Given the description of an element on the screen output the (x, y) to click on. 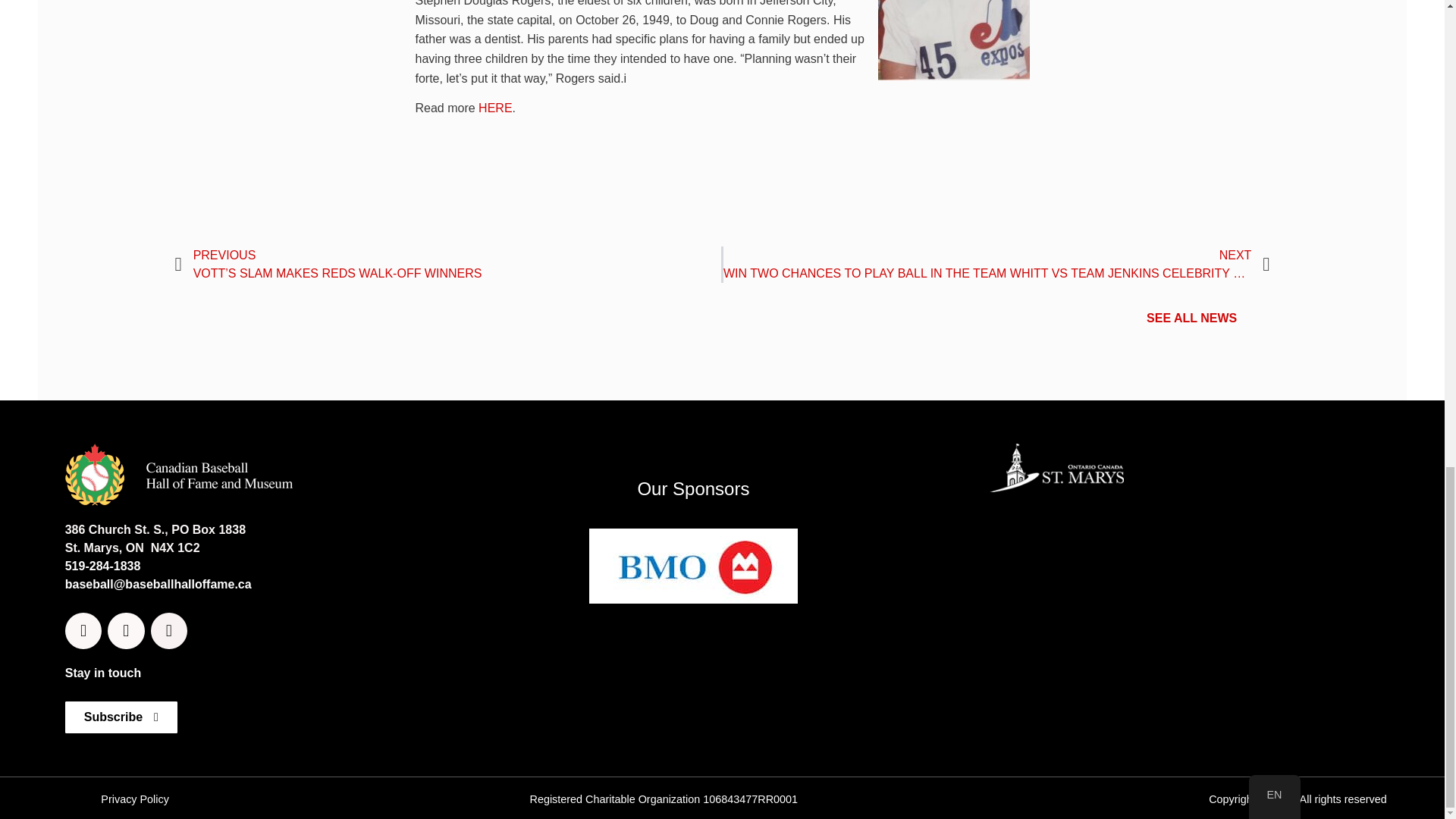
Steve Rogers (953, 40)
386 Church St. South, St Marys, On (1174, 608)
St Marys White (1055, 467)
